Given the description of an element on the screen output the (x, y) to click on. 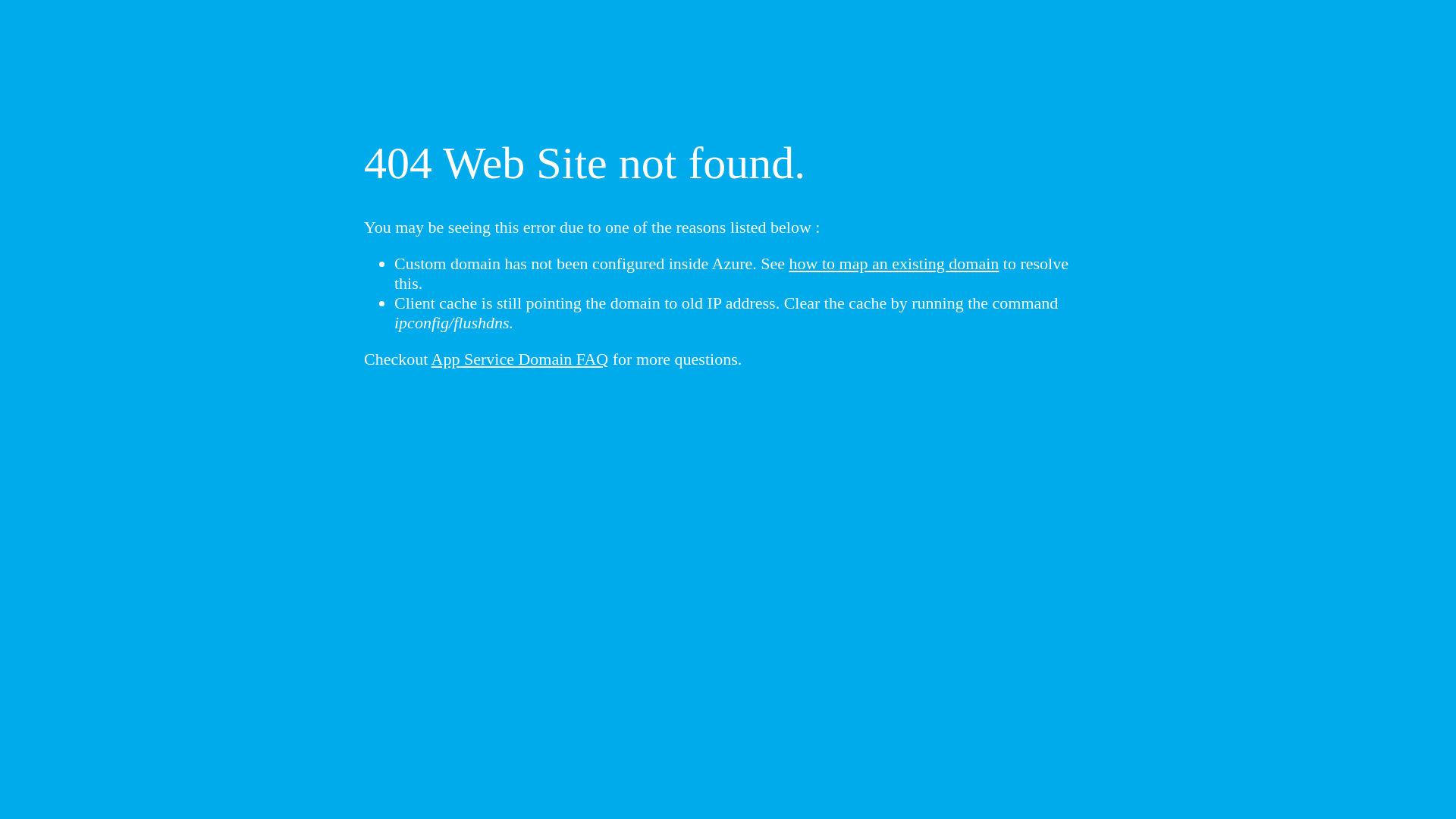
how to map an existing domain Element type: text (894, 263)
App Service Domain FAQ Element type: text (519, 358)
